Given the description of an element on the screen output the (x, y) to click on. 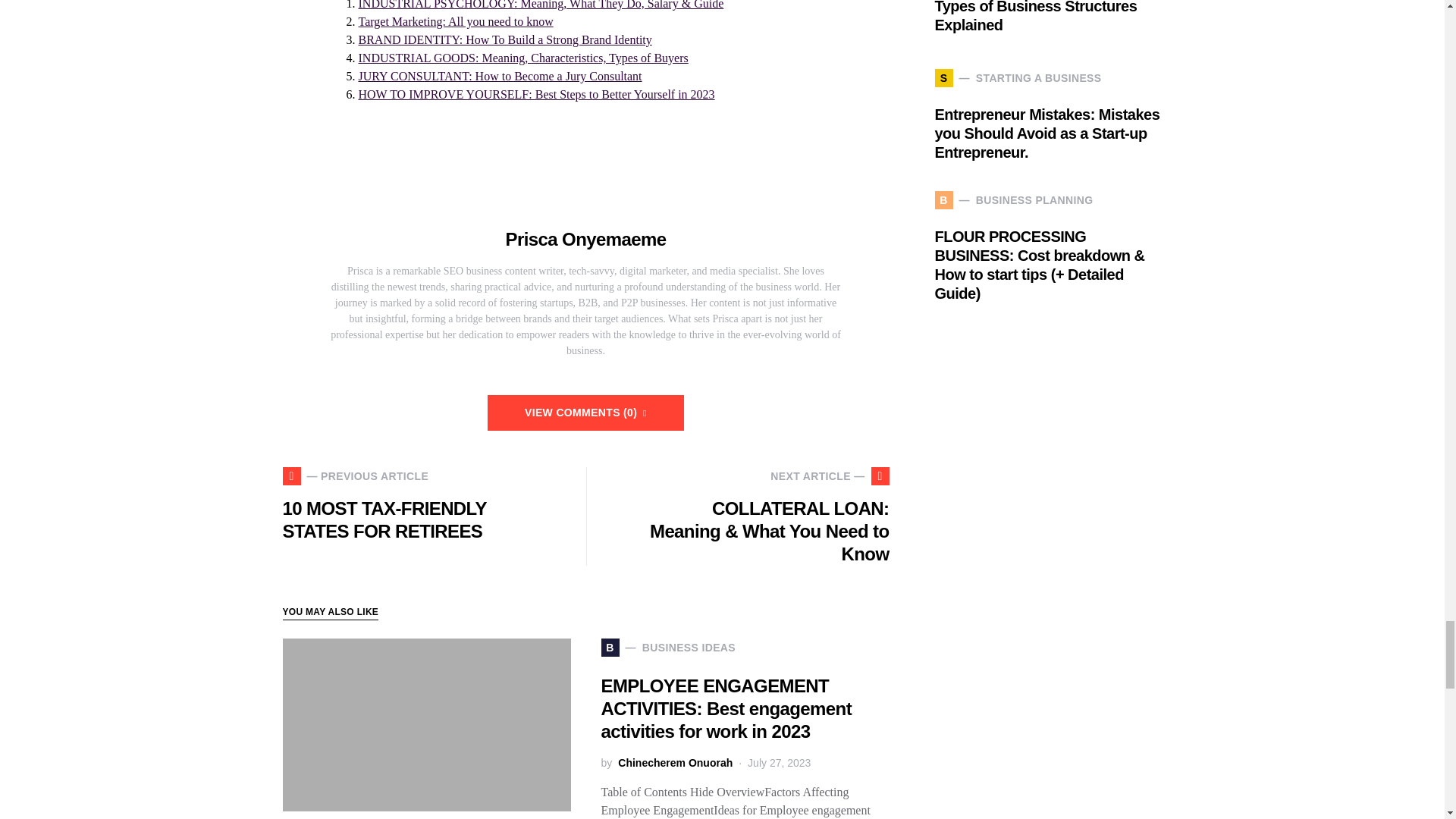
View all posts by Chinecherem Onuorah (674, 763)
